Given the description of an element on the screen output the (x, y) to click on. 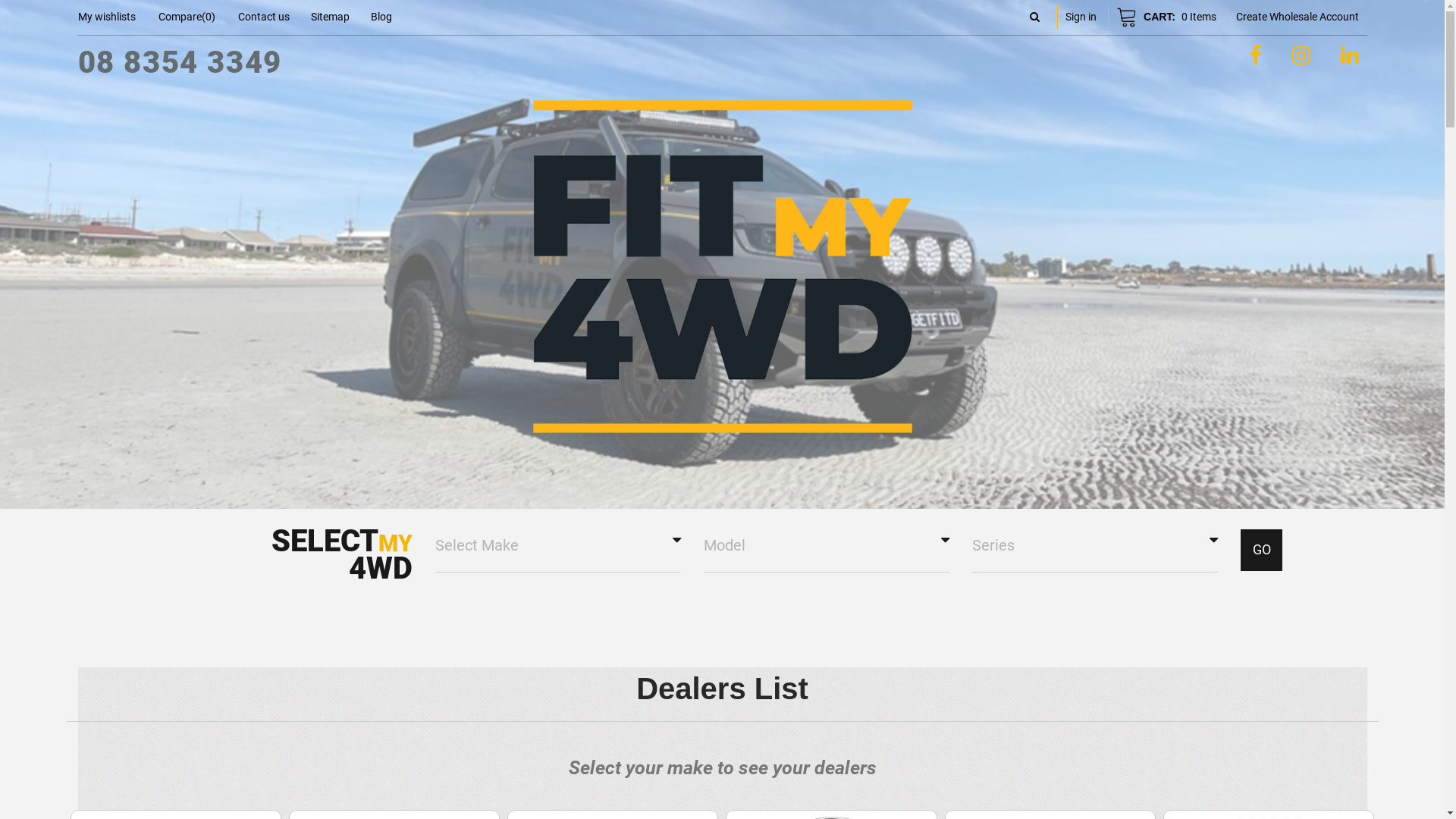
Go Element type: text (1261, 550)
Fitmy4wd.com.au Element type: hover (721, 253)
My wishlists Element type: text (105, 16)
Sitemap Element type: text (329, 16)
Blog Element type: text (380, 16)
CART:
0 Items Element type: text (1165, 17)
Model Element type: text (826, 545)
Series Element type: text (1094, 545)
08 8354 3349 Element type: text (179, 62)
Create Wholesale Account Element type: text (1297, 16)
Contact us Element type: text (263, 16)
Select Make Element type: text (557, 545)
Compare(0) Element type: text (185, 16)
Sign in Element type: text (1080, 16)
